Given the description of an element on the screen output the (x, y) to click on. 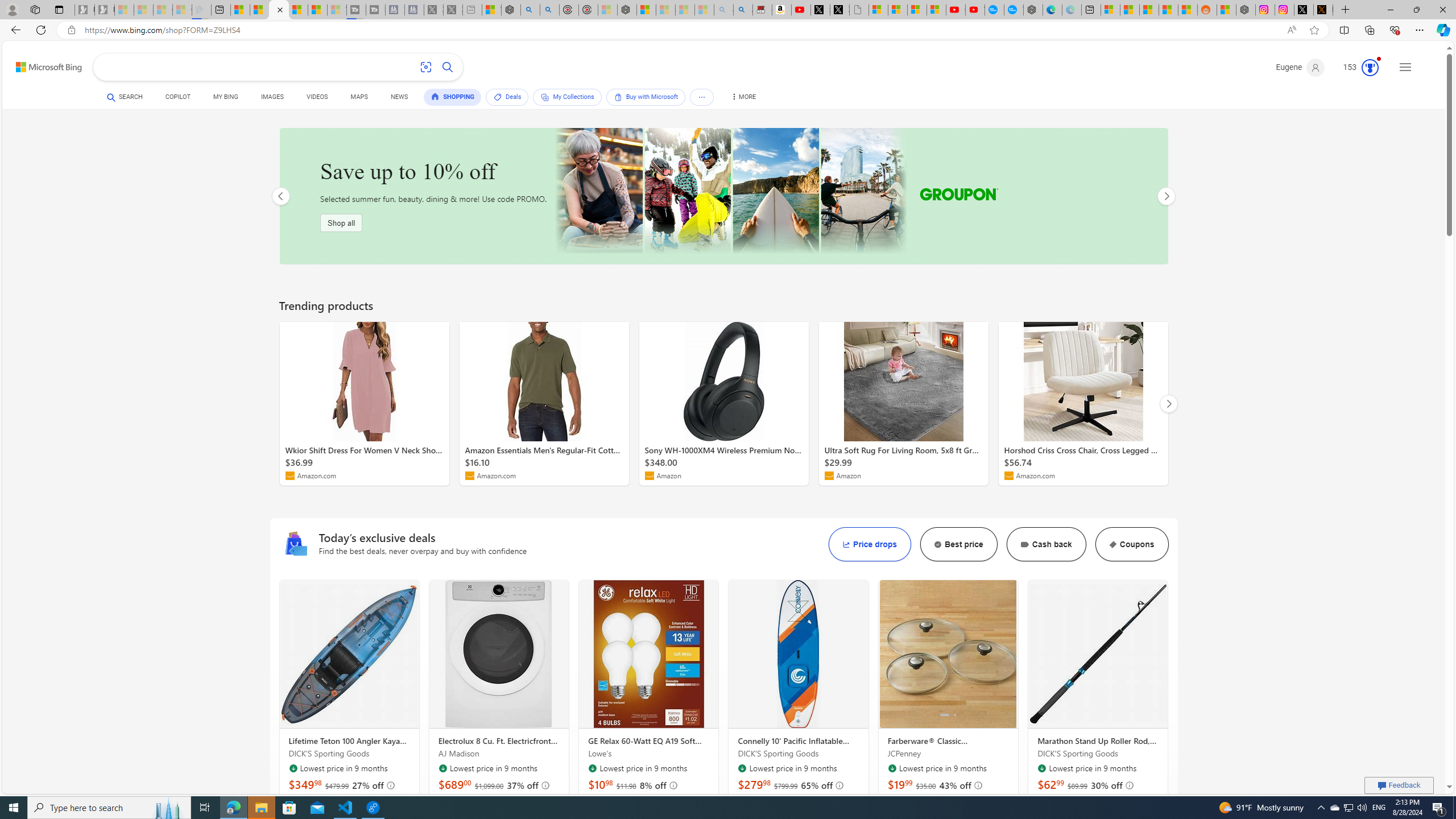
Shanghai, China hourly forecast | Microsoft Weather (1148, 9)
NEWS (398, 98)
Microsoft Rewards 153 (1356, 67)
COPILOT (178, 96)
Split screen (1344, 29)
sh-button-icon Price drops (869, 544)
Shanghai, China weather forecast | Microsoft Weather (1129, 9)
Click to scroll left (279, 195)
VIDEOS (316, 96)
